Given the description of an element on the screen output the (x, y) to click on. 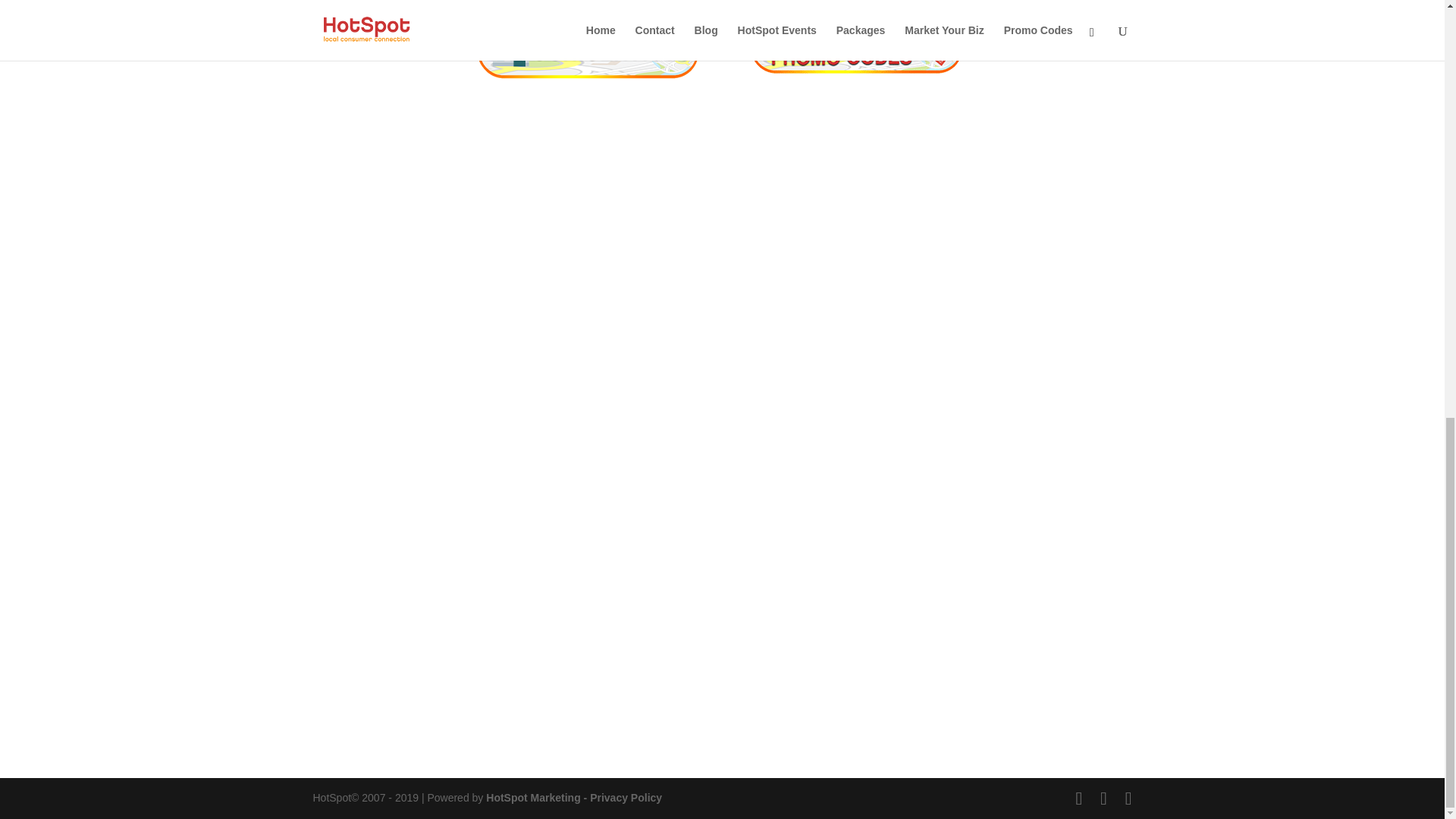
- Privacy Policy (621, 797)
HotSpot Marketing (532, 797)
